Given the description of an element on the screen output the (x, y) to click on. 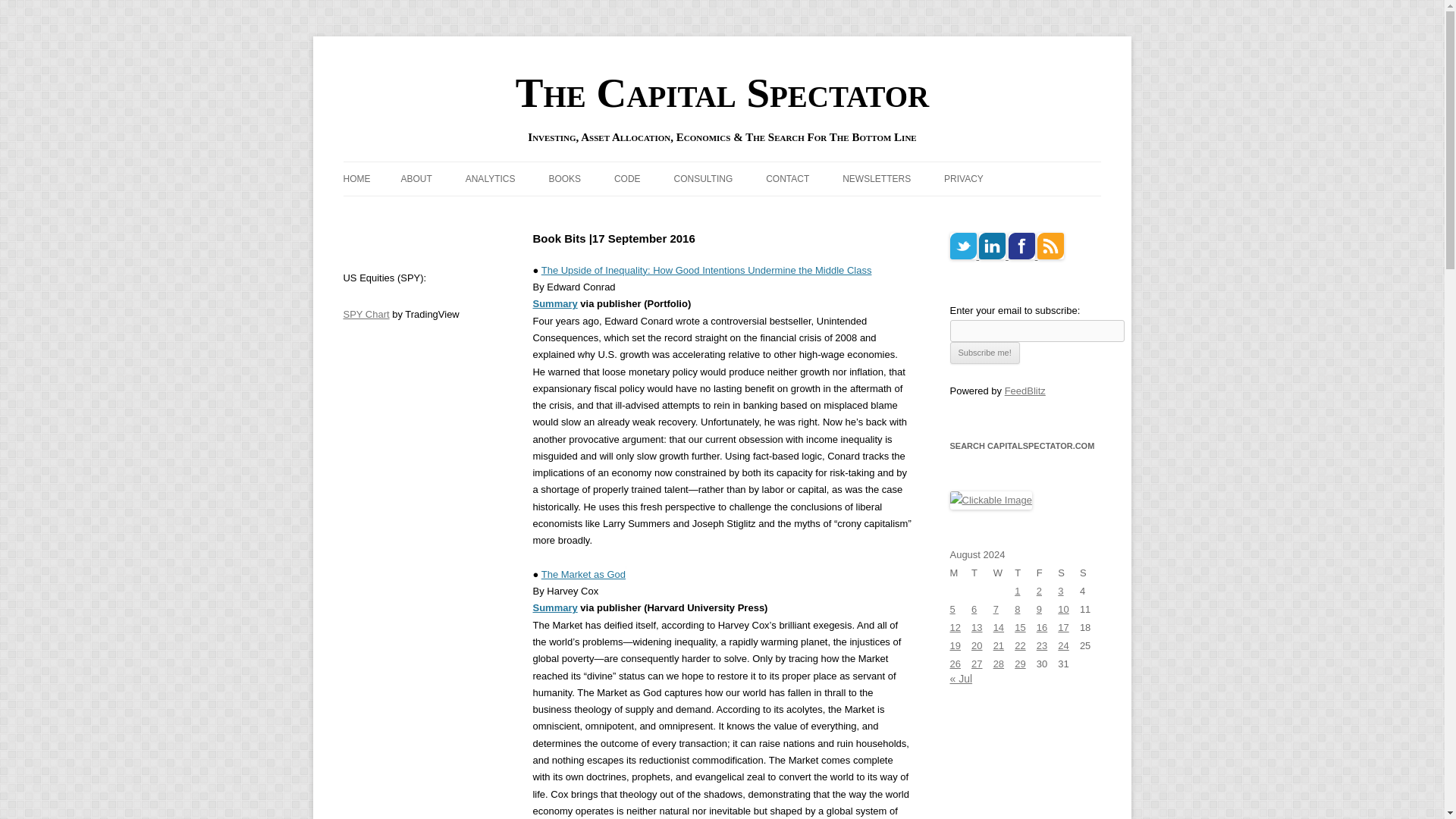
ANALYTICS (490, 178)
CONSULTING (702, 178)
ABOUT (415, 178)
Twitter (962, 245)
RSS (1050, 245)
Wednesday (1003, 573)
Facebook (1022, 245)
BOOKS (564, 178)
Tuesday (981, 573)
